Given the description of an element on the screen output the (x, y) to click on. 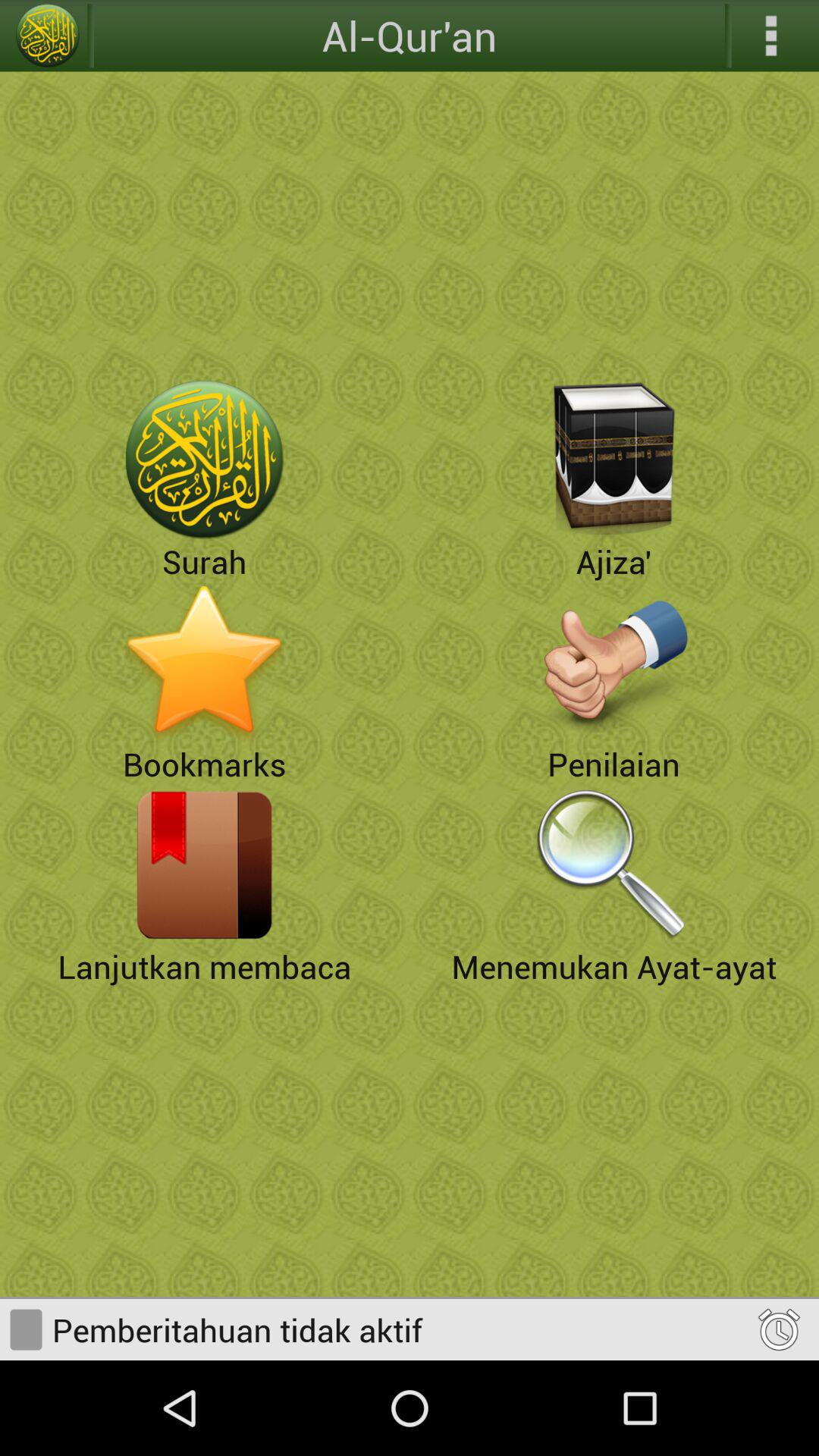
choose ajiza (613, 459)
